Given the description of an element on the screen output the (x, y) to click on. 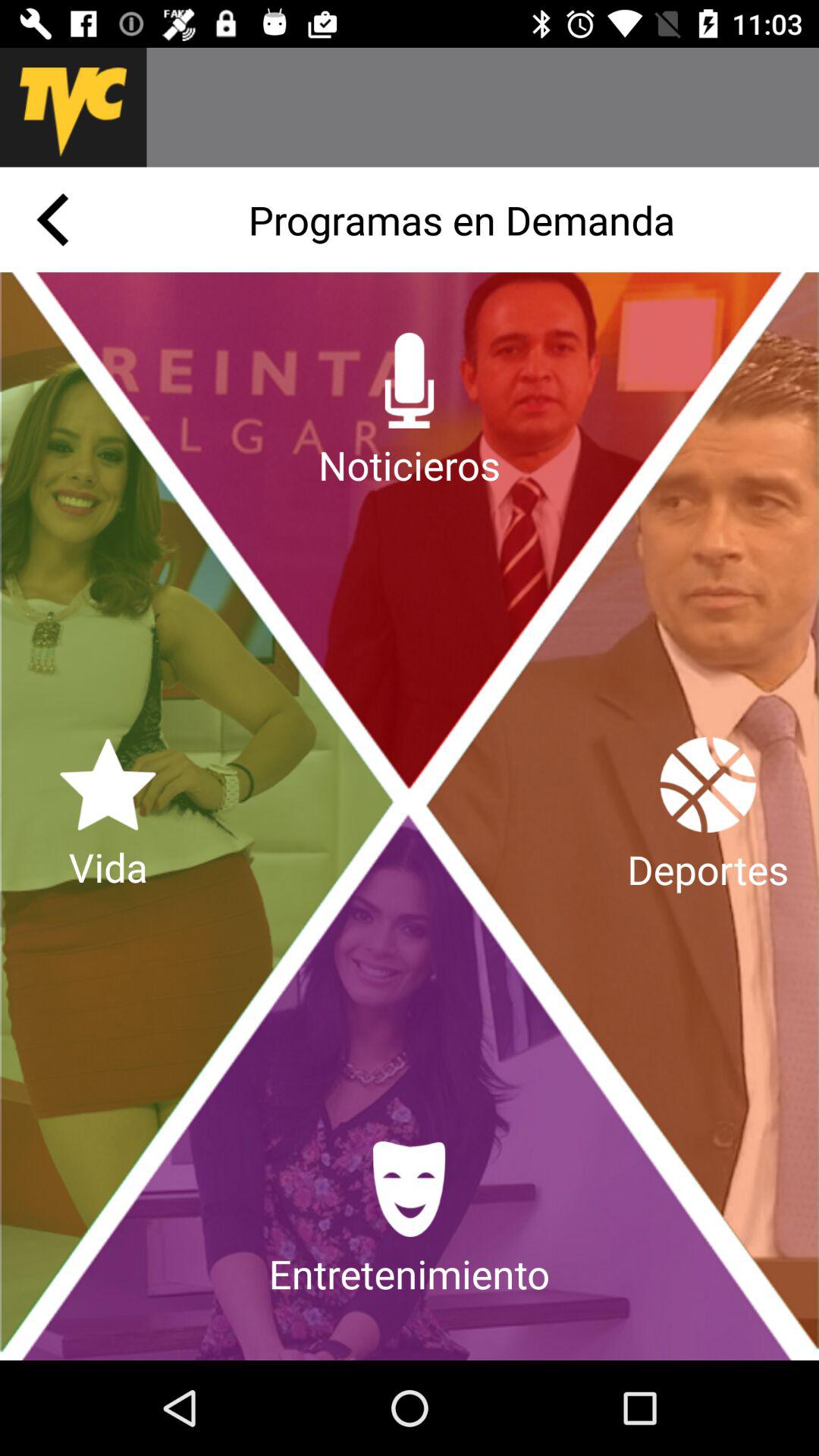
open the item next to the programas en demanda item (52, 219)
